Given the description of an element on the screen output the (x, y) to click on. 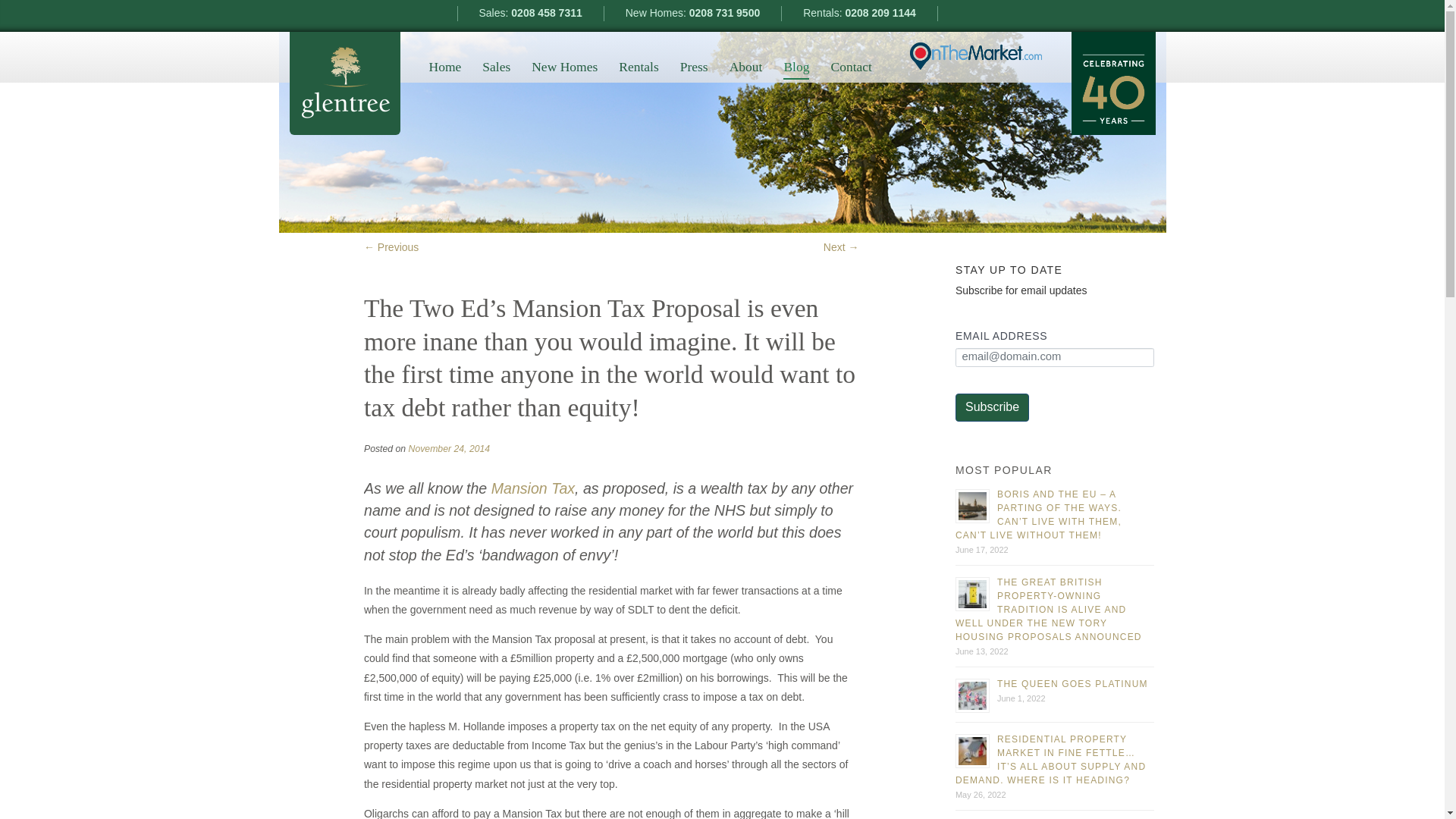
Subscribe (992, 407)
A DEFINITIVE GUIDE TO MANSION TAX (533, 487)
THE QUEEN GOES PLATINUM (1072, 683)
Rentals: 0208 209 1144 (859, 13)
About (745, 67)
Press (693, 67)
Glentree Estate Agents (344, 83)
Blog (796, 68)
New Homes (563, 67)
November 24, 2014 (449, 448)
Mansion Tax (533, 487)
Sales: 0208 458 7311 (531, 13)
Sales (496, 67)
Contact (849, 67)
